Given the description of an element on the screen output the (x, y) to click on. 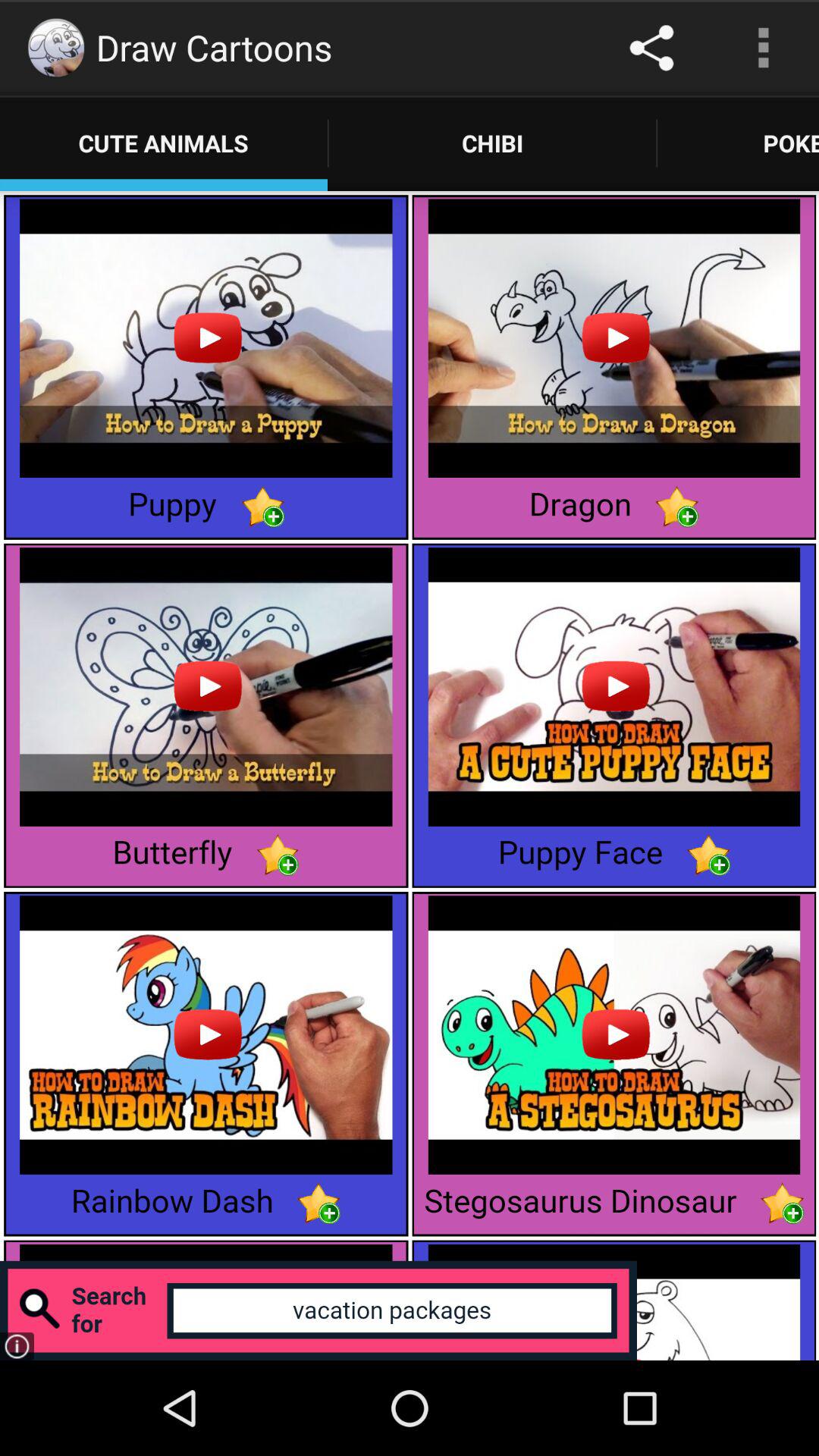
vacation package search input box (318, 1310)
